Given the description of an element on the screen output the (x, y) to click on. 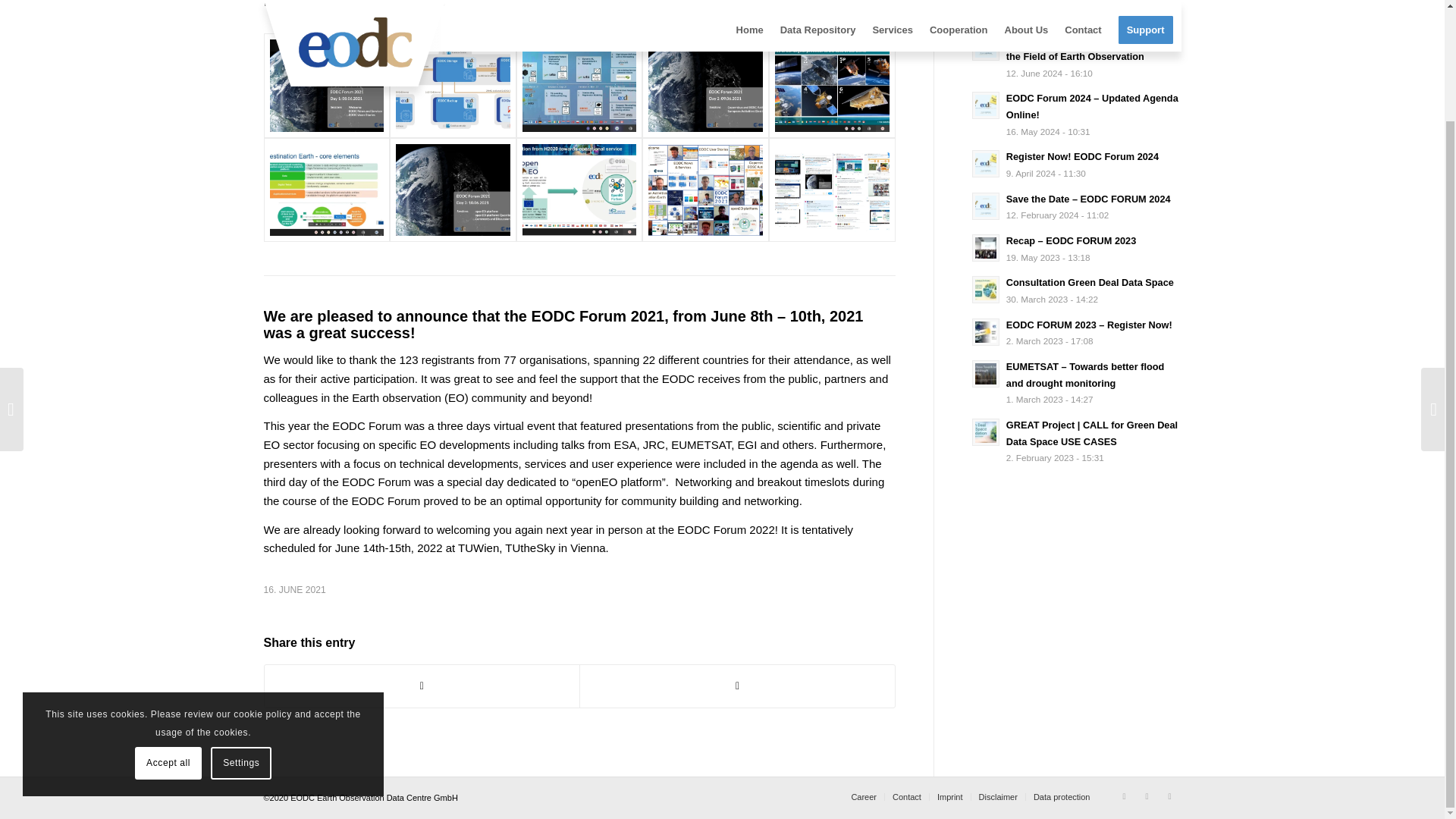
Register Now! EODC Forum 2024 (1082, 156)
Consultation Green Deal Data Space (1089, 282)
Recap: EODC FORUM 2024 (1068, 2)
